Given the description of an element on the screen output the (x, y) to click on. 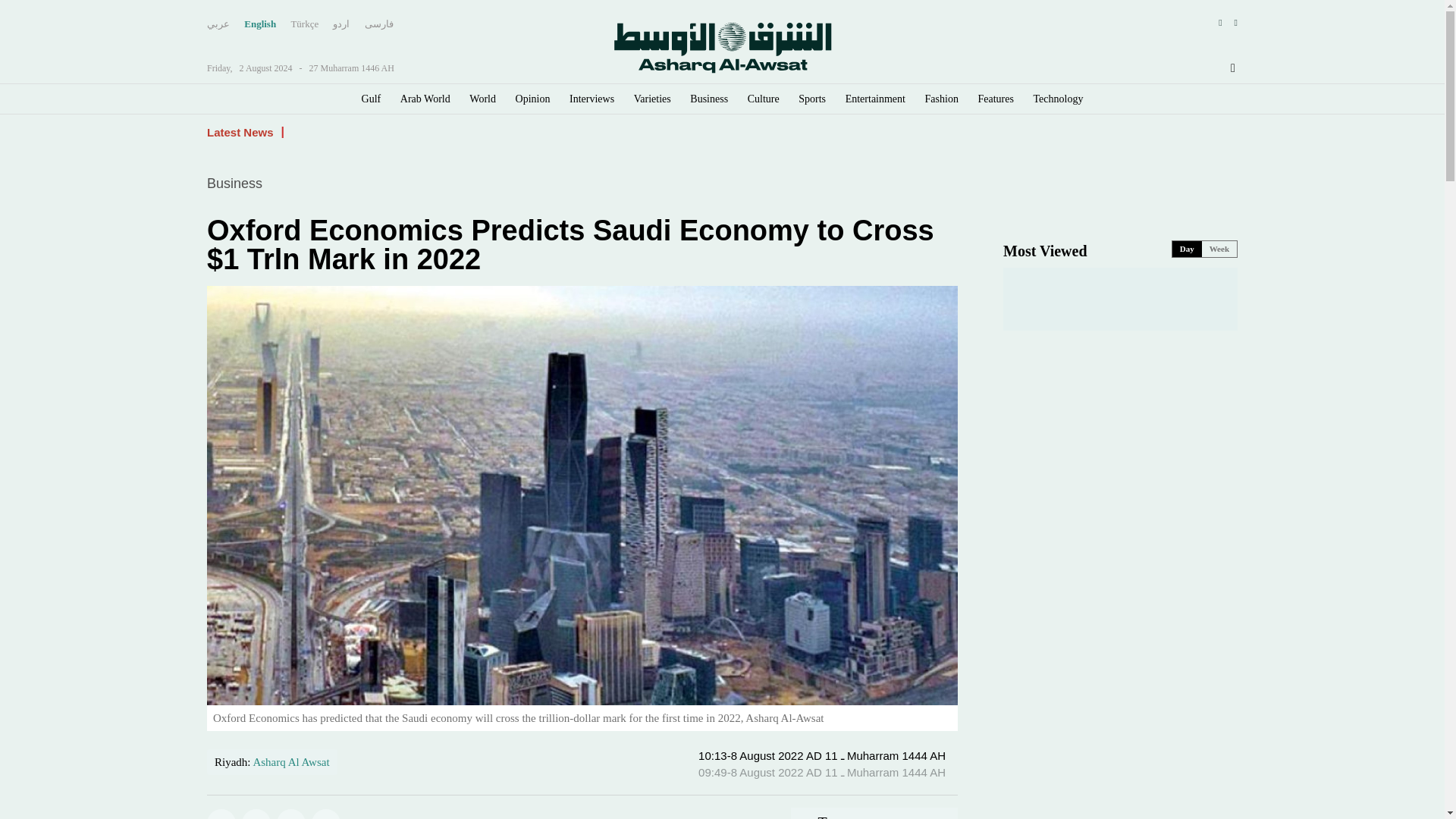
Entertainment (875, 99)
English (260, 24)
Interviews (591, 99)
Culture (763, 99)
Arab World (424, 99)
Technology (1058, 99)
Opinion (532, 99)
Sports (811, 99)
Business (709, 99)
Features (995, 99)
